Given the description of an element on the screen output the (x, y) to click on. 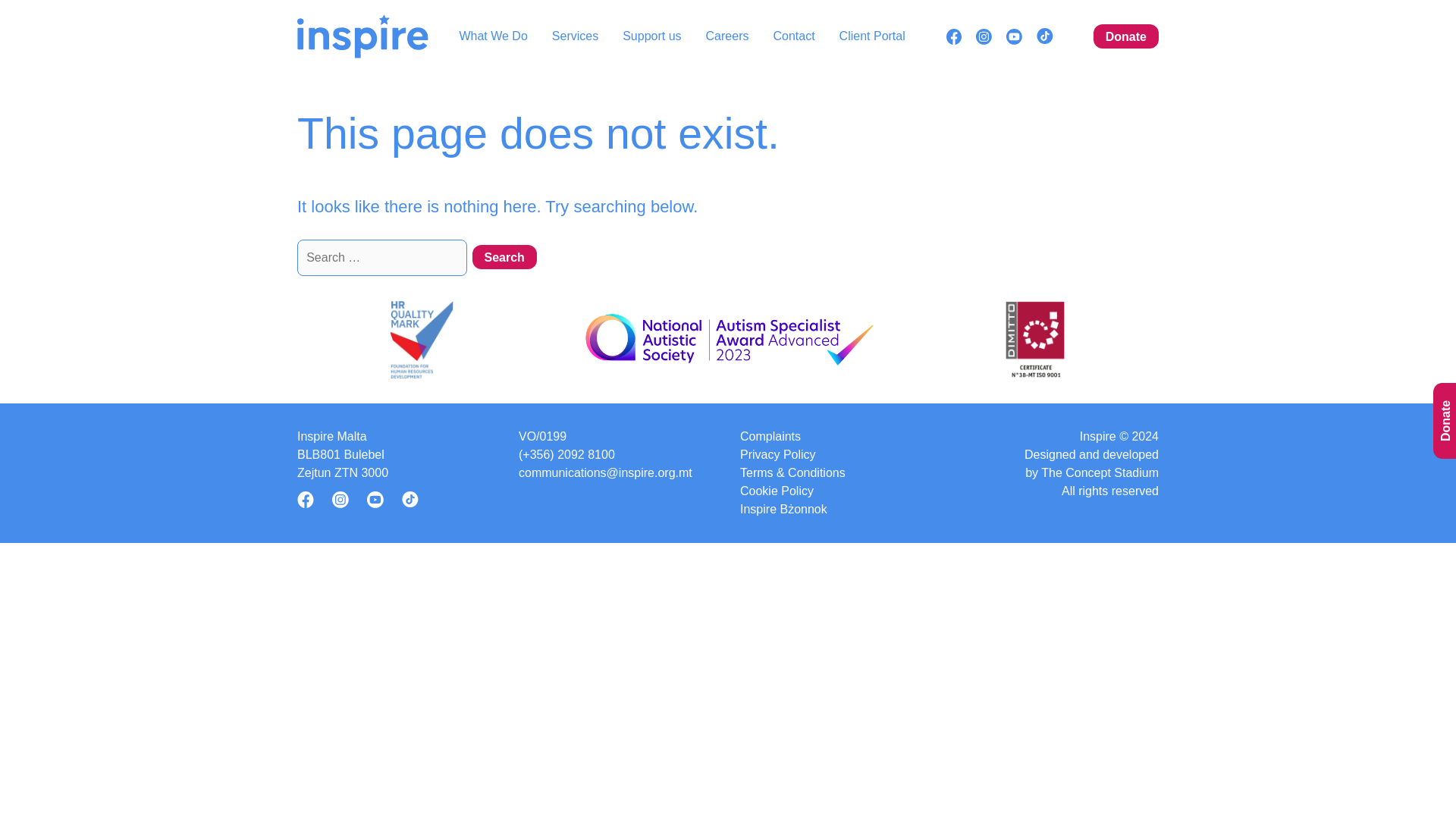
Privacy Policy (777, 454)
Complaints (769, 436)
Search (503, 256)
Search (503, 256)
Careers (727, 36)
Donate (1125, 36)
Services (574, 36)
Support us (652, 36)
What We Do (492, 36)
Contact (793, 36)
Client Portal (872, 36)
Search (503, 256)
